Given the description of an element on the screen output the (x, y) to click on. 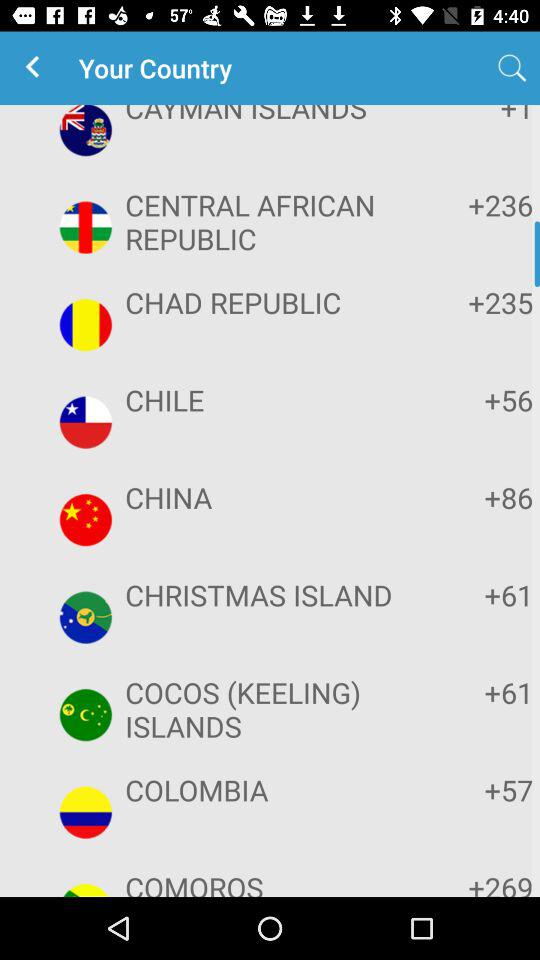
choose app next to cayman islands app (471, 115)
